Given the description of an element on the screen output the (x, y) to click on. 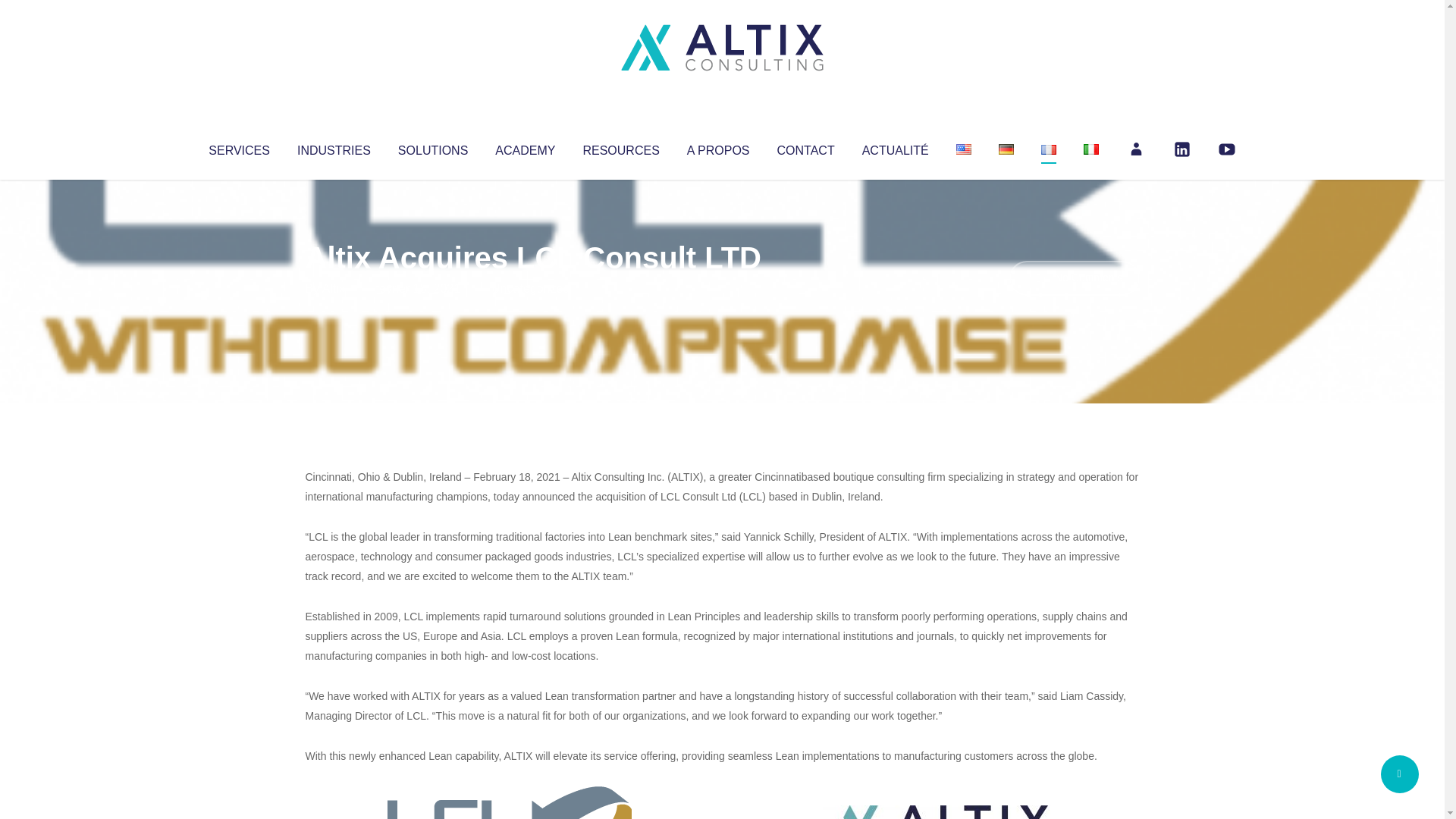
SOLUTIONS (432, 146)
Articles par Altix (333, 287)
No Comments (1073, 278)
A PROPOS (718, 146)
INDUSTRIES (334, 146)
ACADEMY (524, 146)
SERVICES (238, 146)
Altix (333, 287)
Uncategorized (530, 287)
RESOURCES (620, 146)
